Given the description of an element on the screen output the (x, y) to click on. 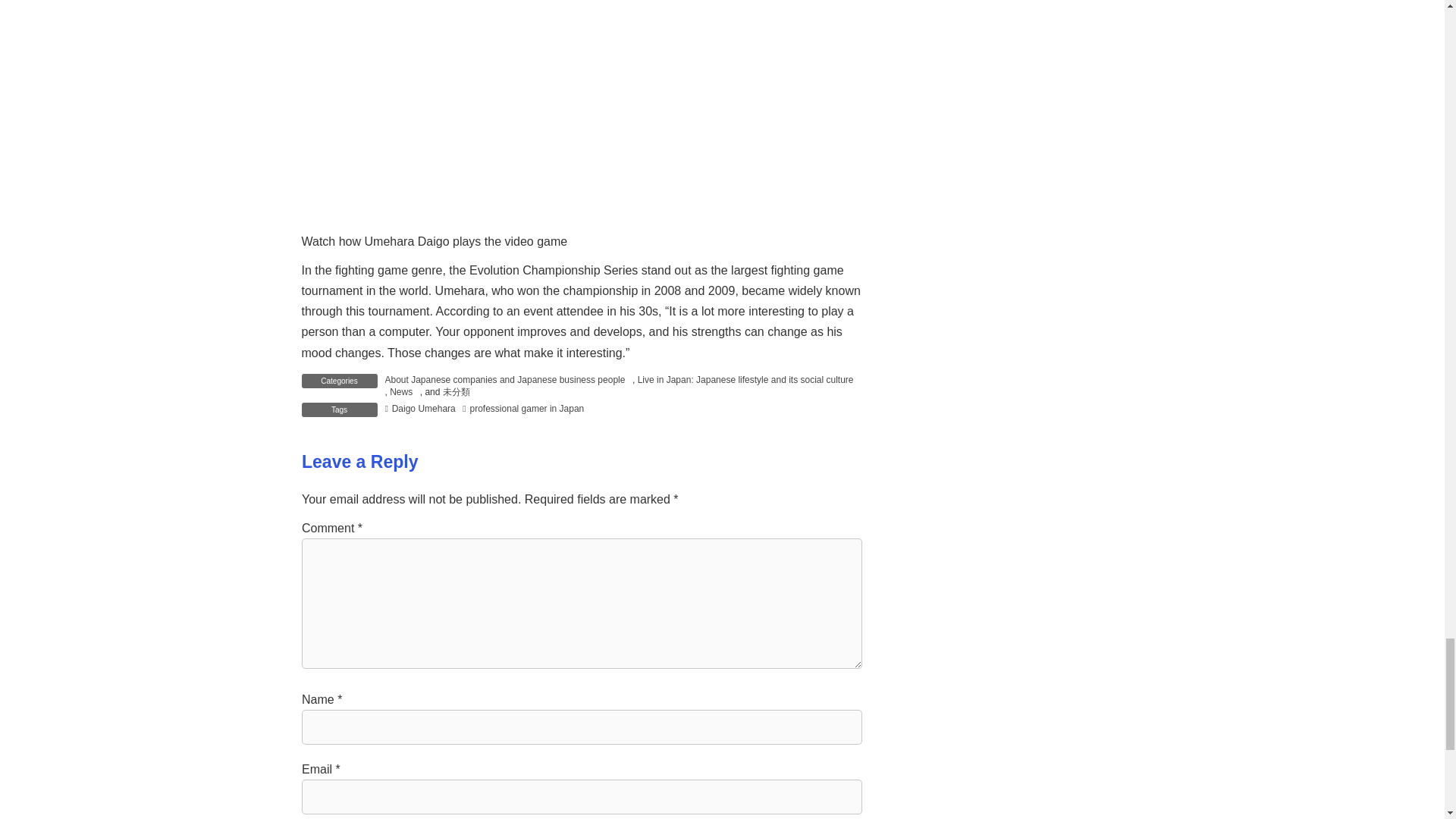
Live in Japan: Japanese lifestyle and its social culture (745, 379)
Daigo Umehara Techniques Close-up Street Fighter (581, 115)
News (401, 392)
Daigo Umehara (420, 408)
professional gamer in Japan (523, 408)
About Japanese companies and Japanese business people (505, 379)
